Given the description of an element on the screen output the (x, y) to click on. 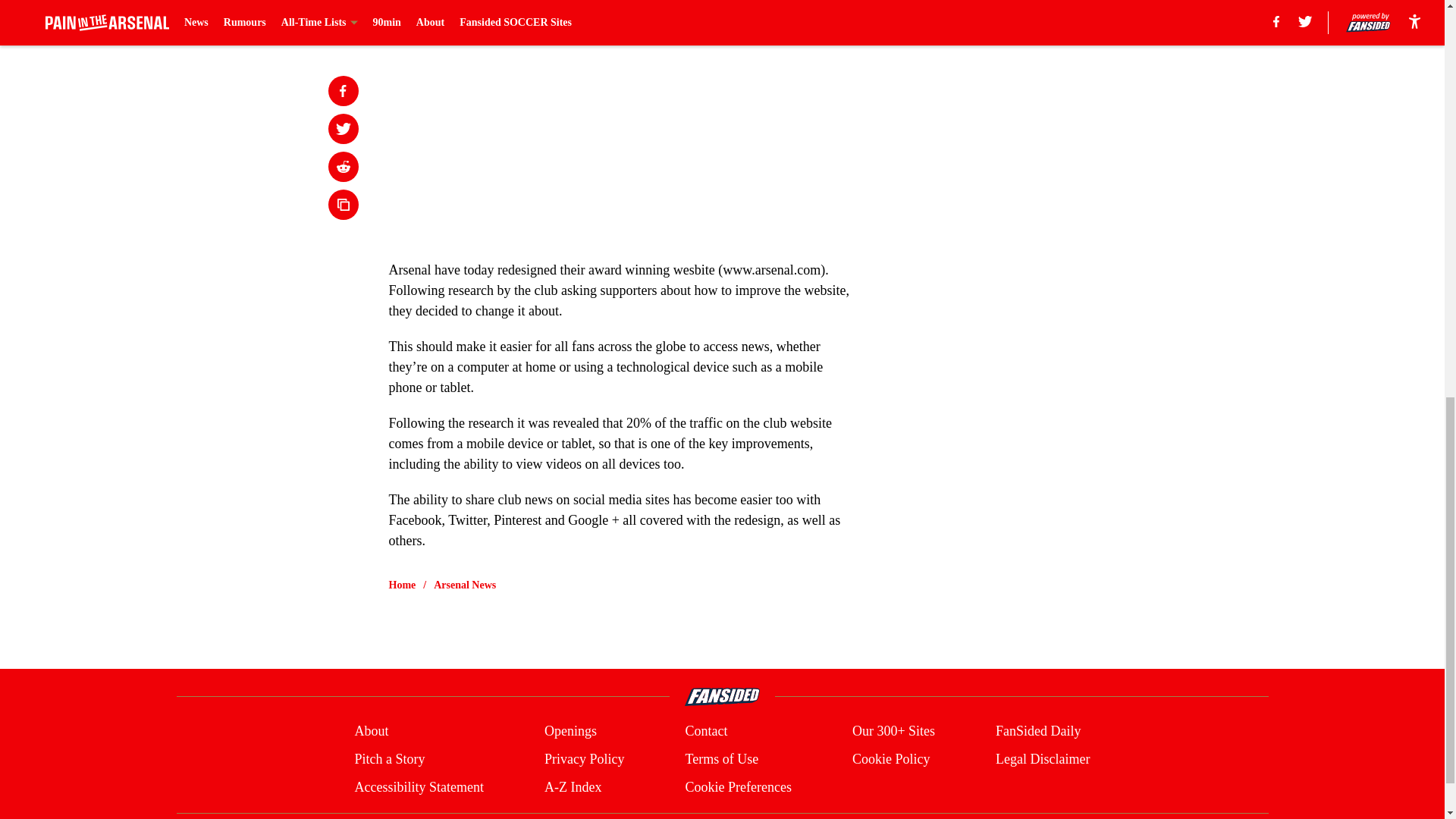
Cookie Preferences (737, 787)
Contact (705, 731)
Arsenal News (464, 585)
FanSided Daily (1038, 731)
Terms of Use (721, 759)
Home (401, 585)
Accessibility Statement (418, 787)
Pitch a Story (389, 759)
Cookie Policy (890, 759)
Privacy Policy (584, 759)
